Given the description of an element on the screen output the (x, y) to click on. 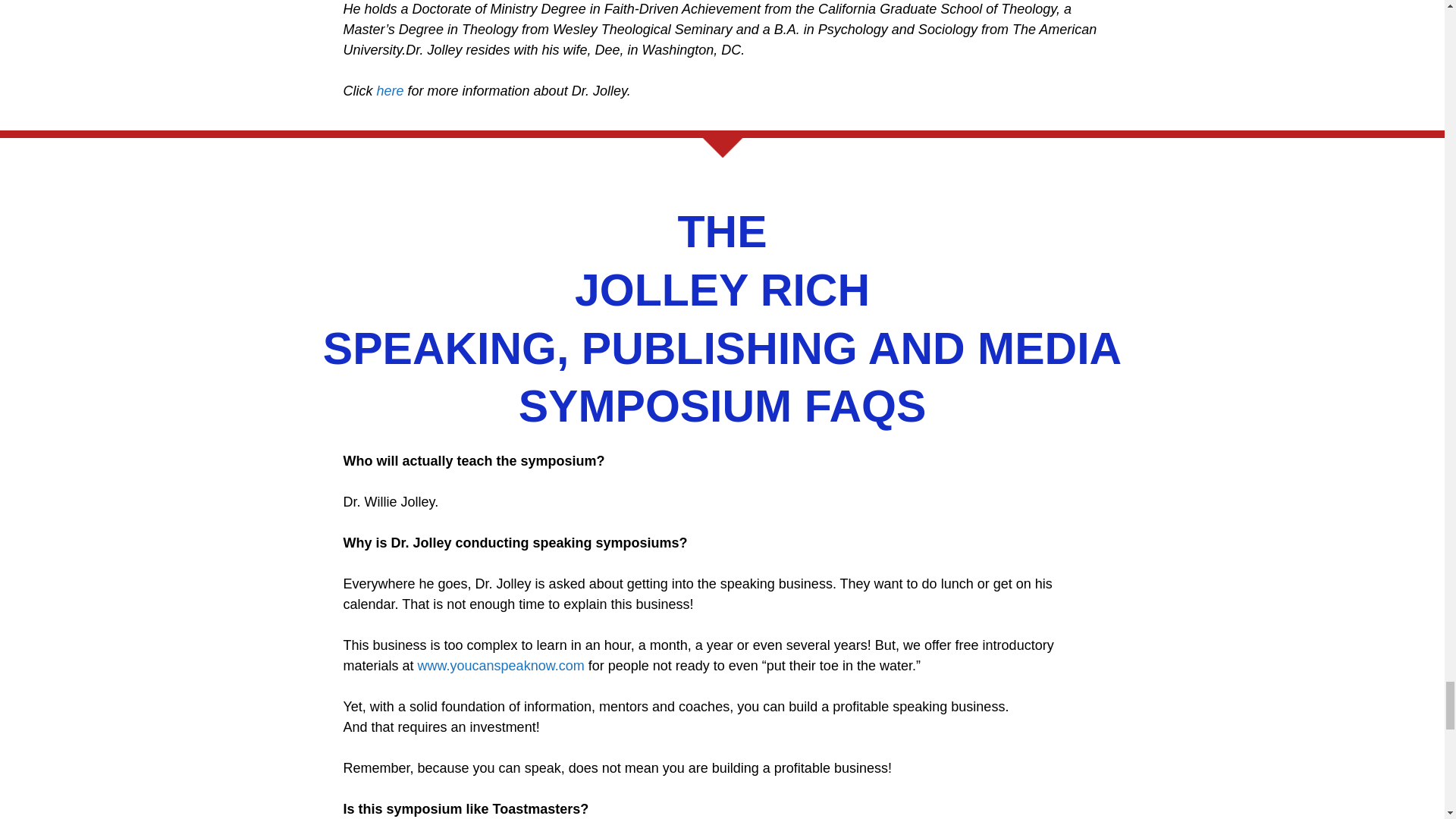
here (389, 90)
www.youcanspeaknow.com (501, 665)
